Given the description of an element on the screen output the (x, y) to click on. 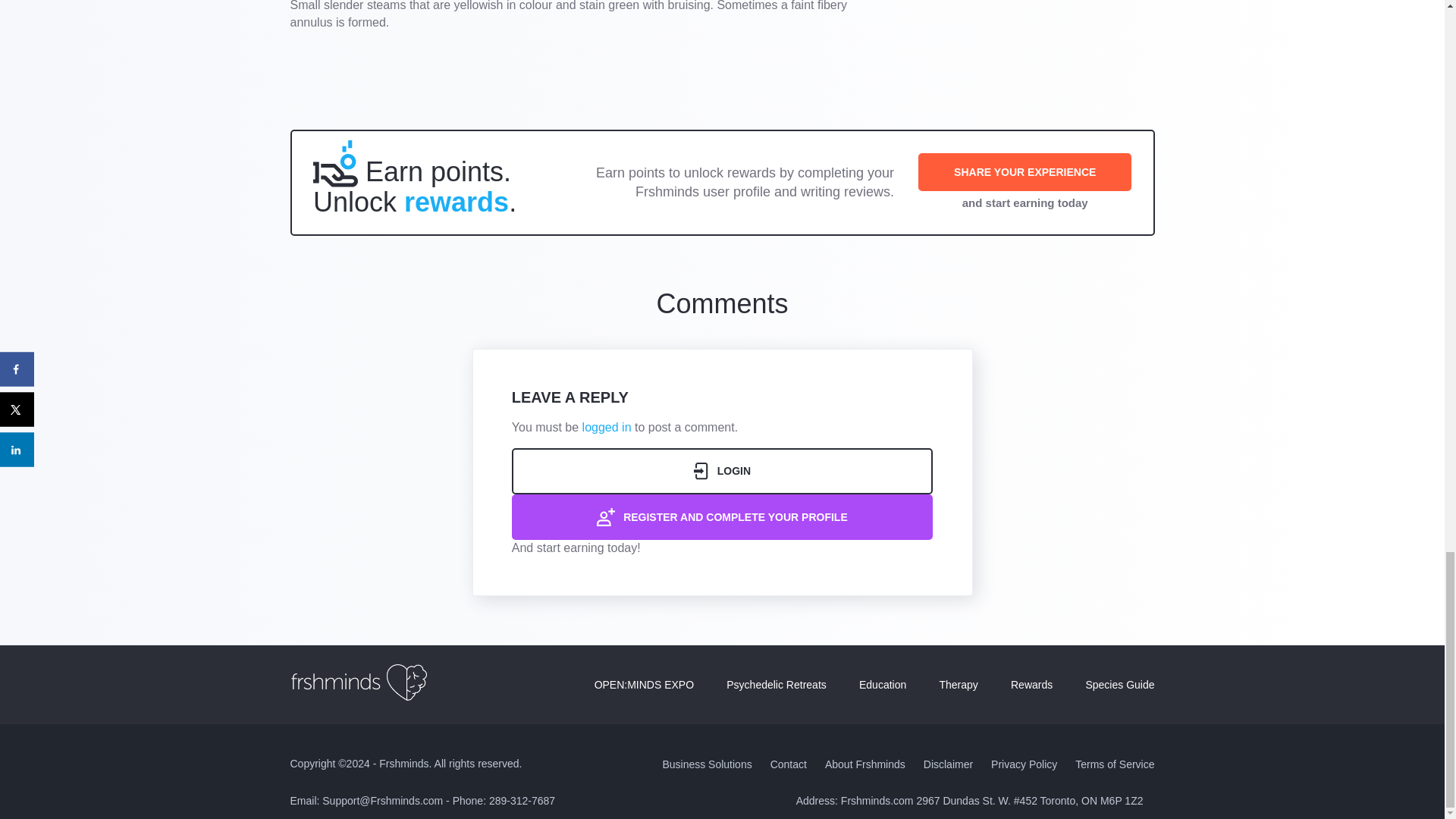
Privacy Policy (1024, 764)
Therapy (957, 684)
LOGIN (722, 470)
Psychedelic Retreats (776, 684)
REGISTER AND COMPLETE YOUR PROFILE (722, 516)
OPEN:MINDS EXPO (644, 684)
Rewards (1031, 684)
Rewards (1031, 684)
Business Solutions (706, 764)
Education (882, 684)
